Given the description of an element on the screen output the (x, y) to click on. 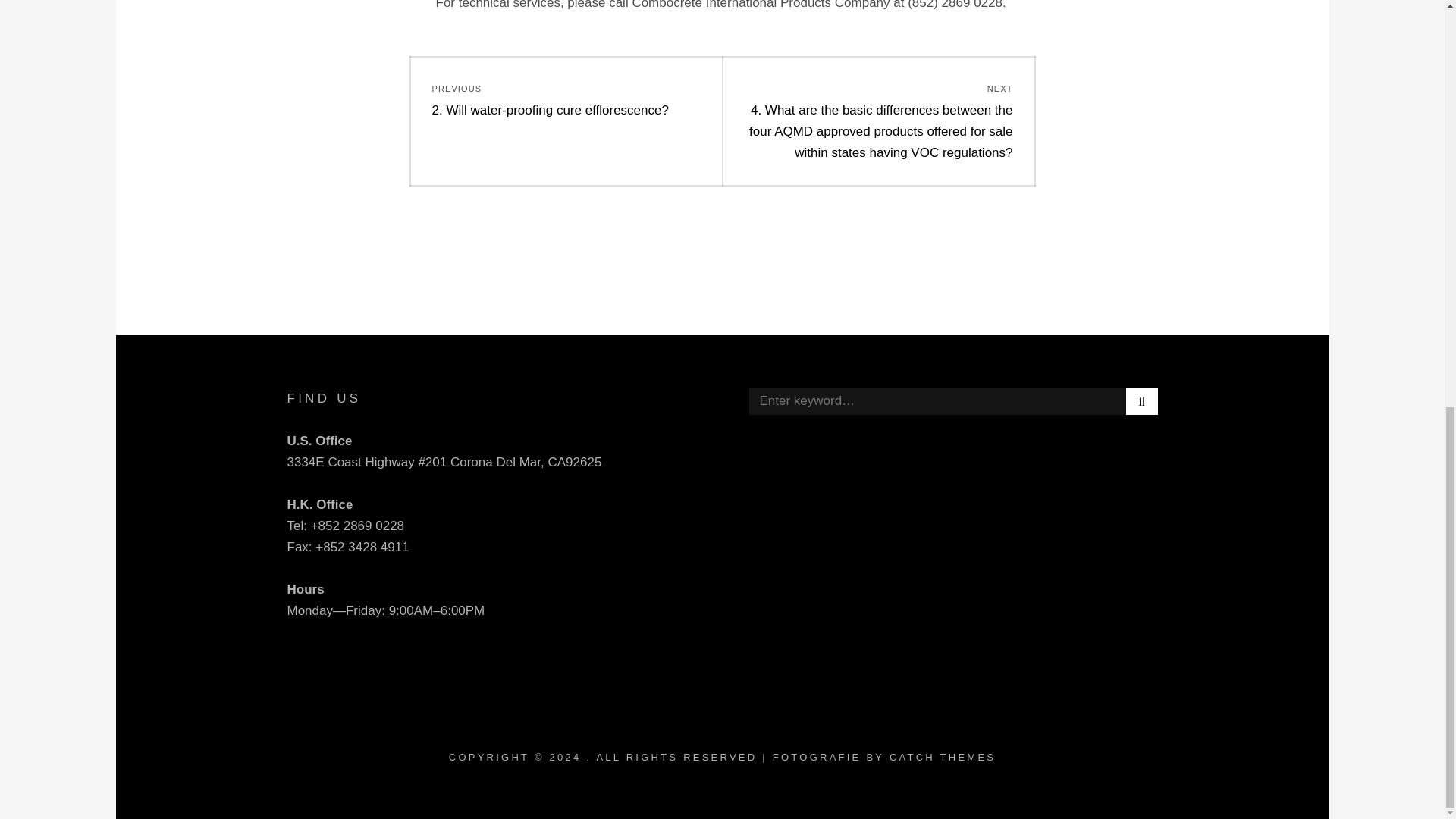
CATCH THEMES (942, 756)
SEARCH (1141, 401)
